Given the description of an element on the screen output the (x, y) to click on. 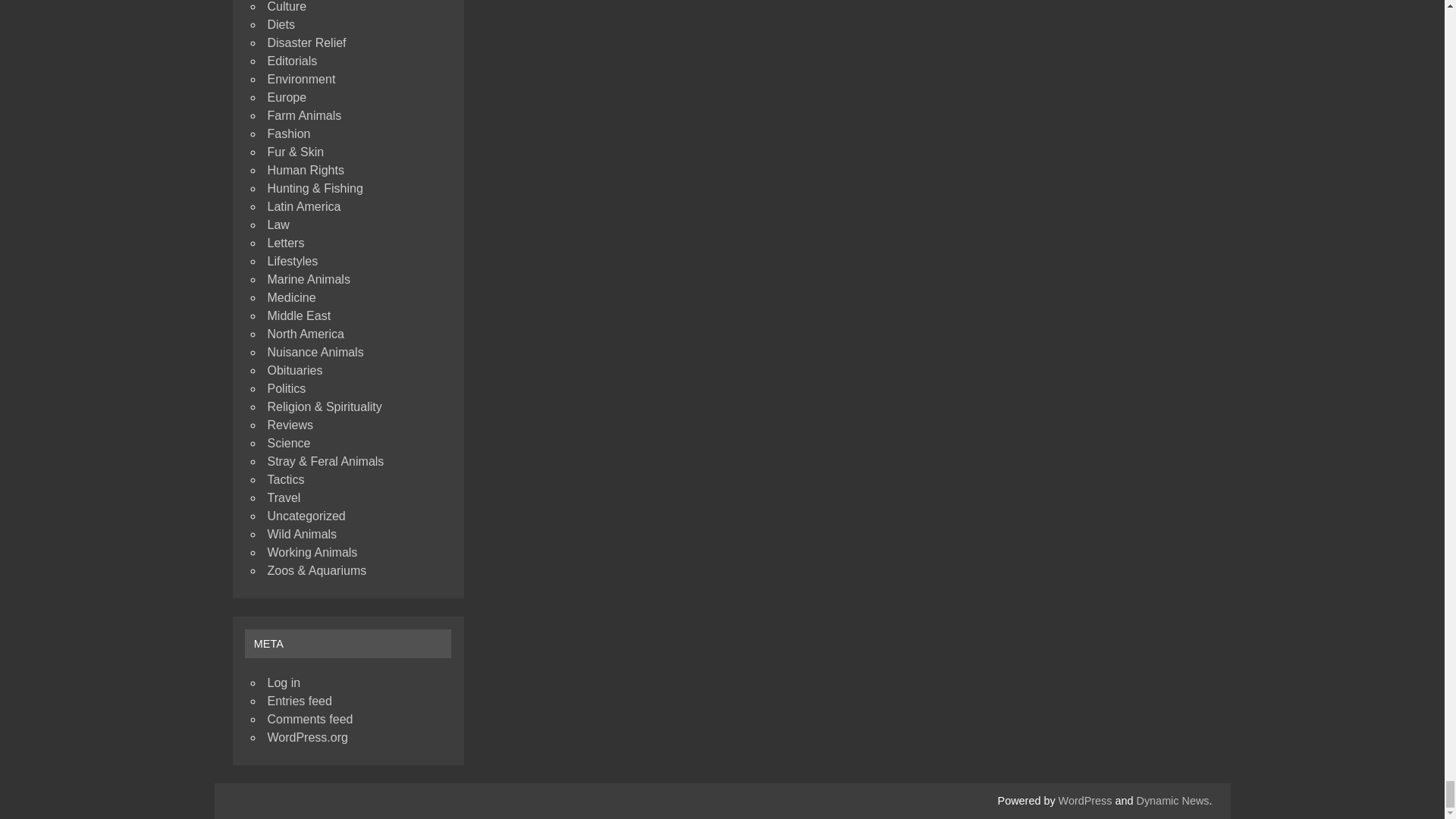
WordPress (1085, 800)
Dynamic News WordPress Theme (1173, 800)
